Given the description of an element on the screen output the (x, y) to click on. 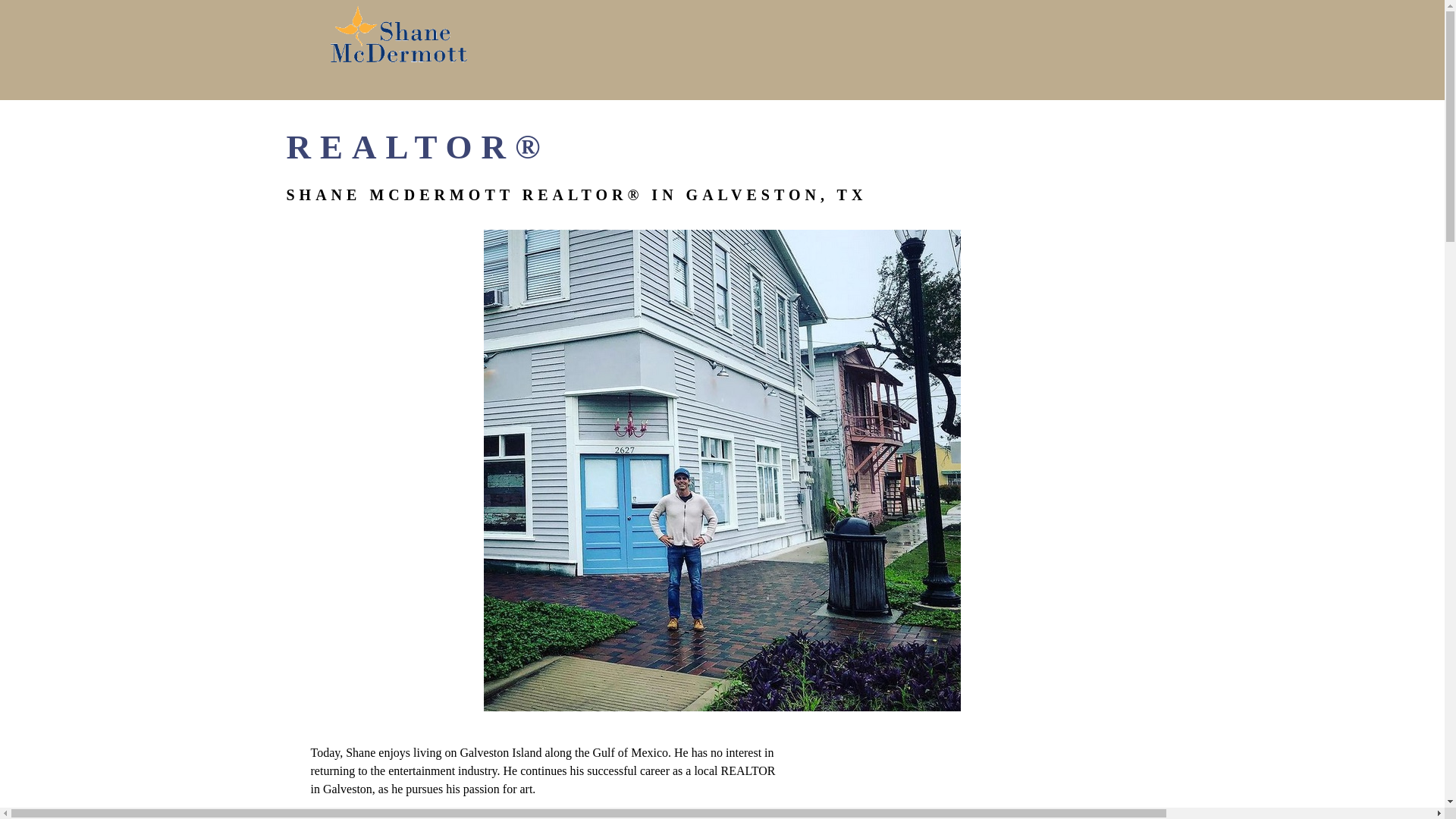
art-logo (398, 34)
